Given the description of an element on the screen output the (x, y) to click on. 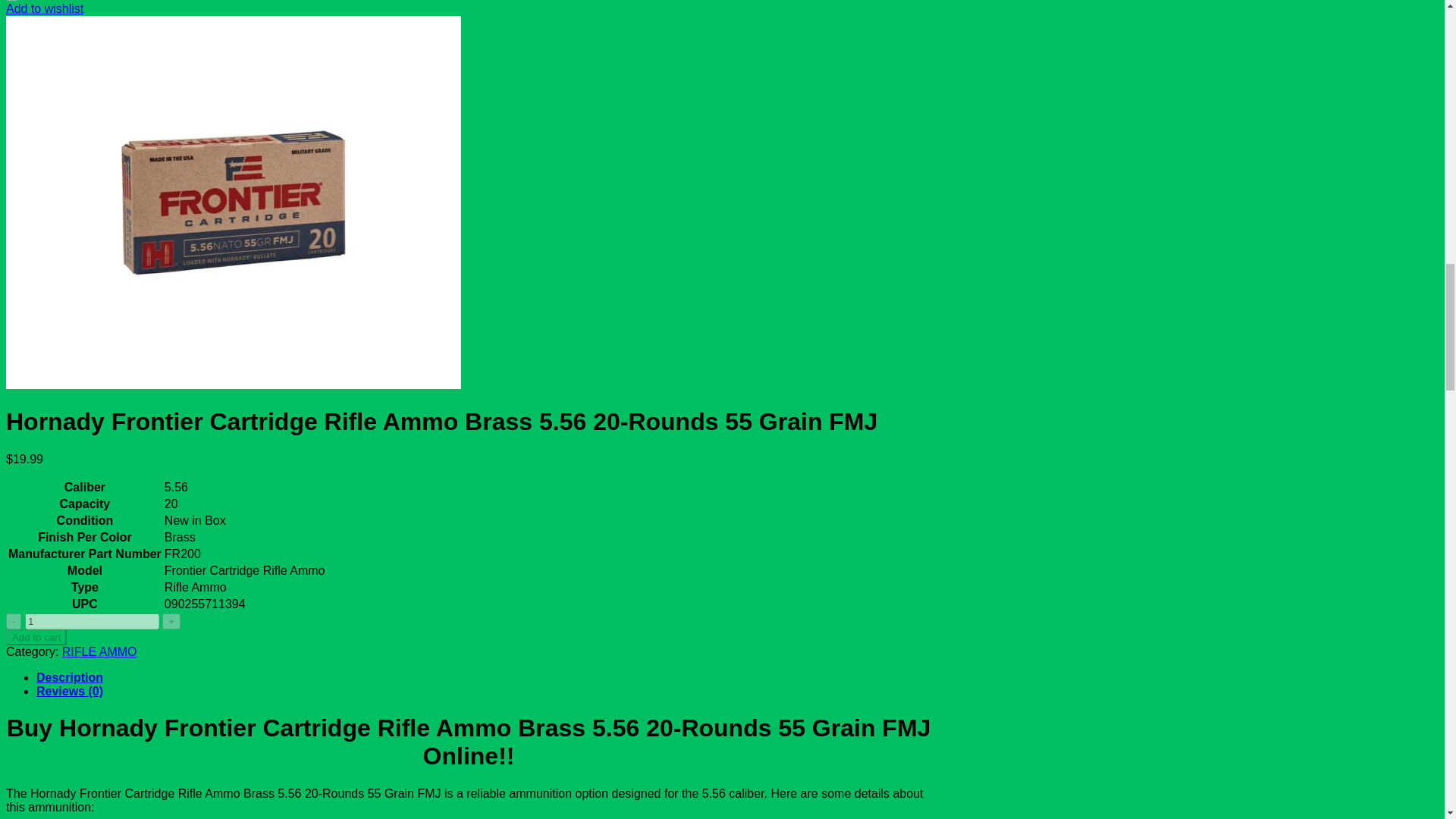
- (13, 621)
1 (91, 621)
